Given the description of an element on the screen output the (x, y) to click on. 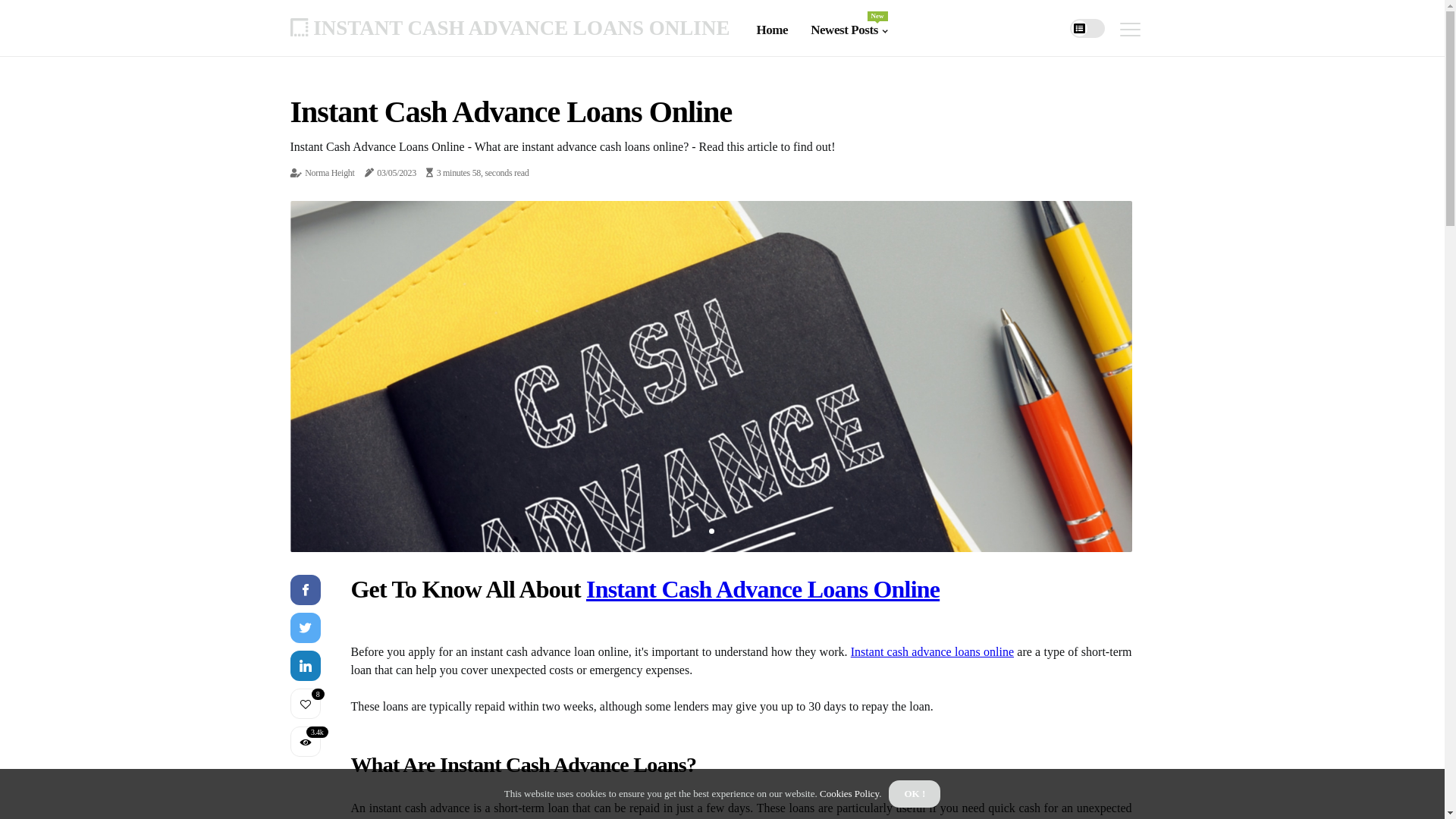
1 Element type: text (710, 530)
Home Element type: text (771, 30)
Instant Cash Advance Loans Online Element type: text (762, 588)
INSTANT CASH ADVANCE LOANS ONLINE Element type: text (509, 26)
Instant cash advance loans online Element type: text (931, 651)
Norma Height Element type: text (329, 172)
Cookies Policy Element type: text (848, 793)
8 Element type: text (304, 703)
Newest Posts
New Element type: text (848, 30)
